Given the description of an element on the screen output the (x, y) to click on. 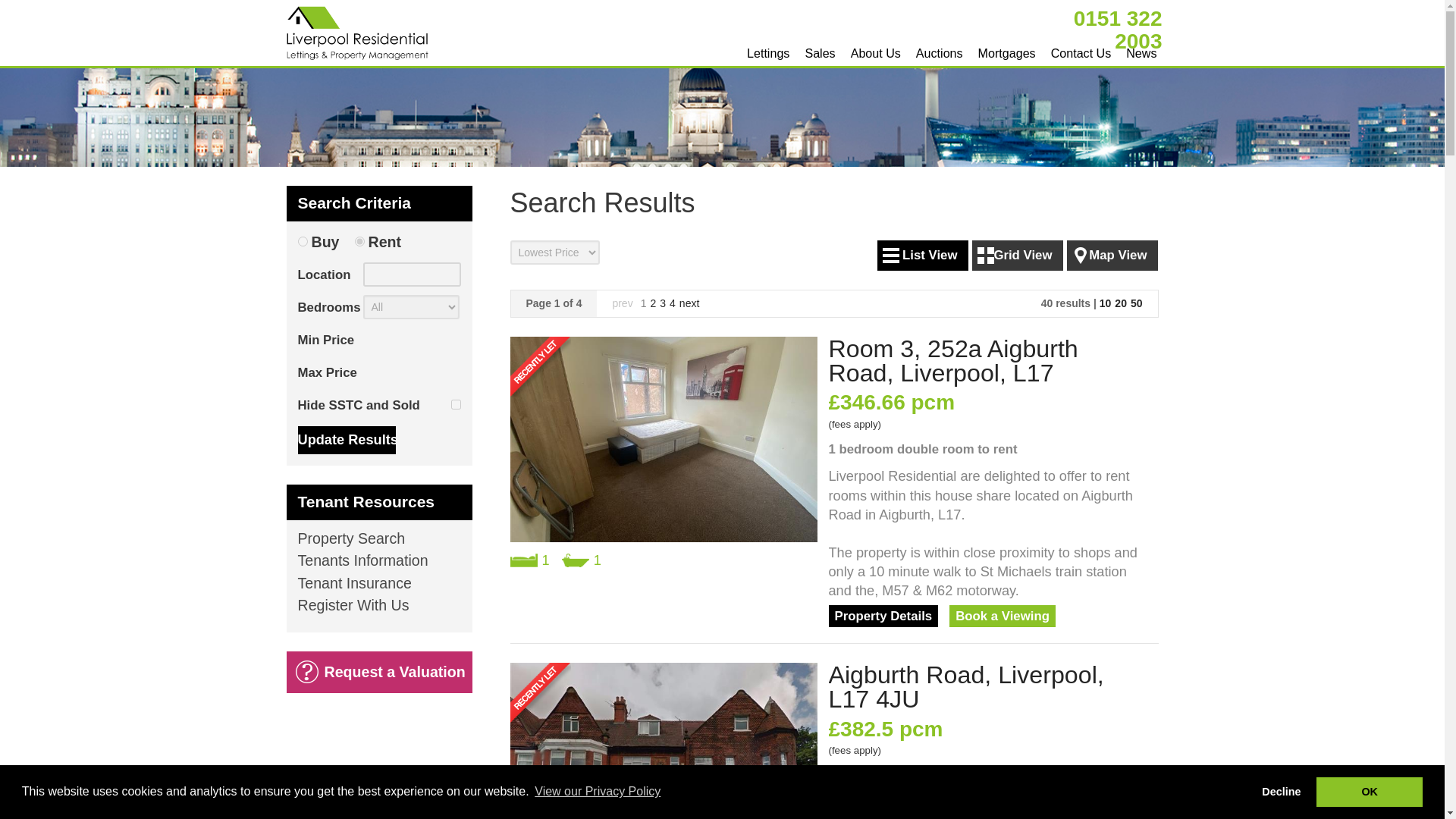
Contact Us (1081, 52)
Lettings (767, 52)
View our Privacy Policy (597, 791)
Update Results (345, 439)
1 (454, 404)
Lettings (767, 52)
Decline (1281, 791)
Blog (1140, 52)
OK (1369, 791)
Auctions (938, 52)
Auctions (938, 52)
Mortgages (1006, 52)
Sales (819, 52)
About Us (875, 52)
Property Search (378, 542)
